Given the description of an element on the screen output the (x, y) to click on. 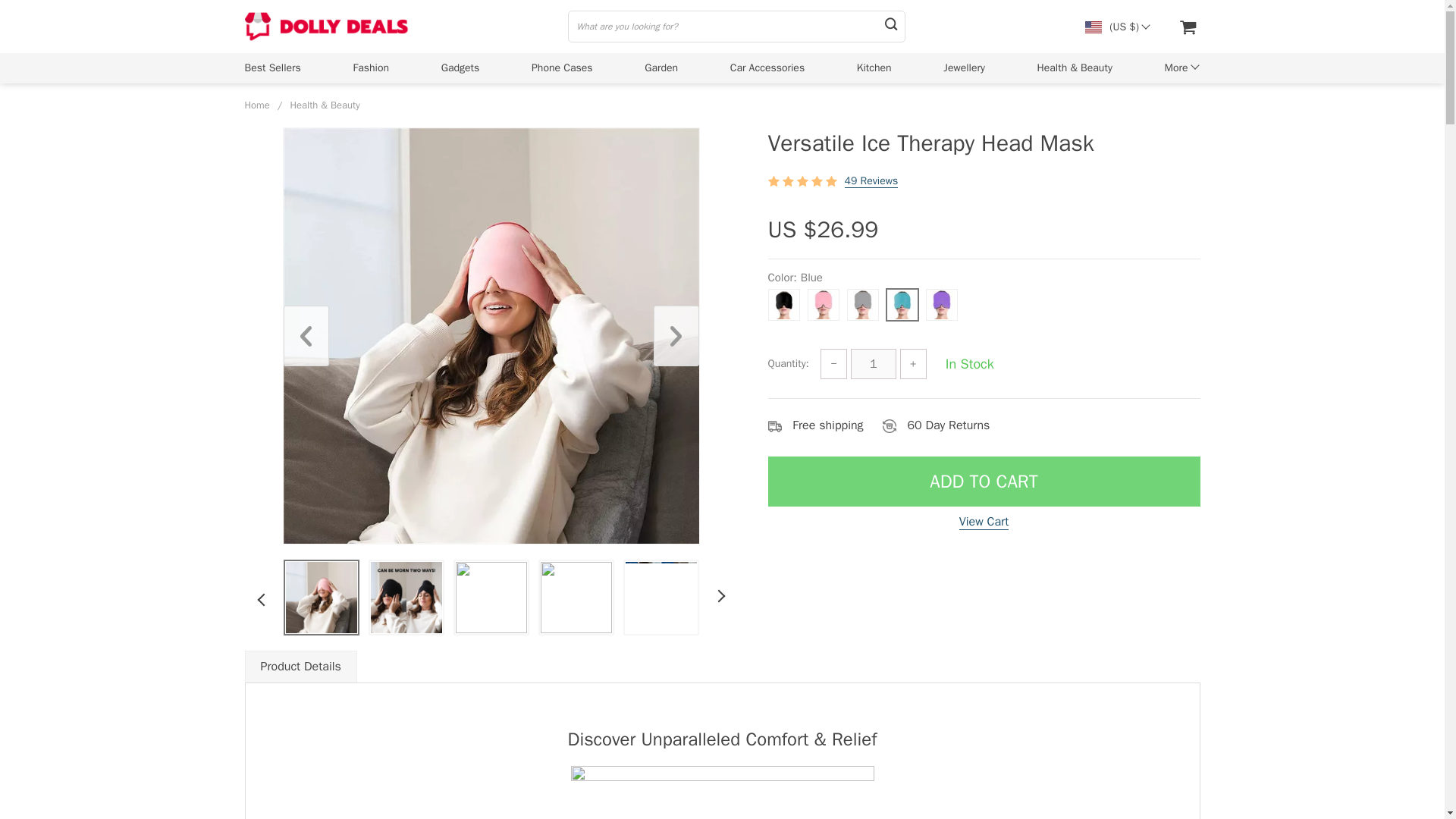
Best Sellers (271, 67)
Phone Cases (561, 67)
Fashion (371, 67)
Color:Blue (983, 300)
1 (873, 363)
Car Accessories (767, 67)
Gadgets (460, 67)
Kitchen (874, 67)
27625-2e85ca.webp (320, 597)
27625-6d3d27.jpg (575, 597)
Garden (661, 67)
27625-9d4e78.jpg (659, 597)
Jewellery (964, 67)
27625-c5b520.jpeg (405, 597)
27625-fe03d7.webp (489, 597)
